Given the description of an element on the screen output the (x, y) to click on. 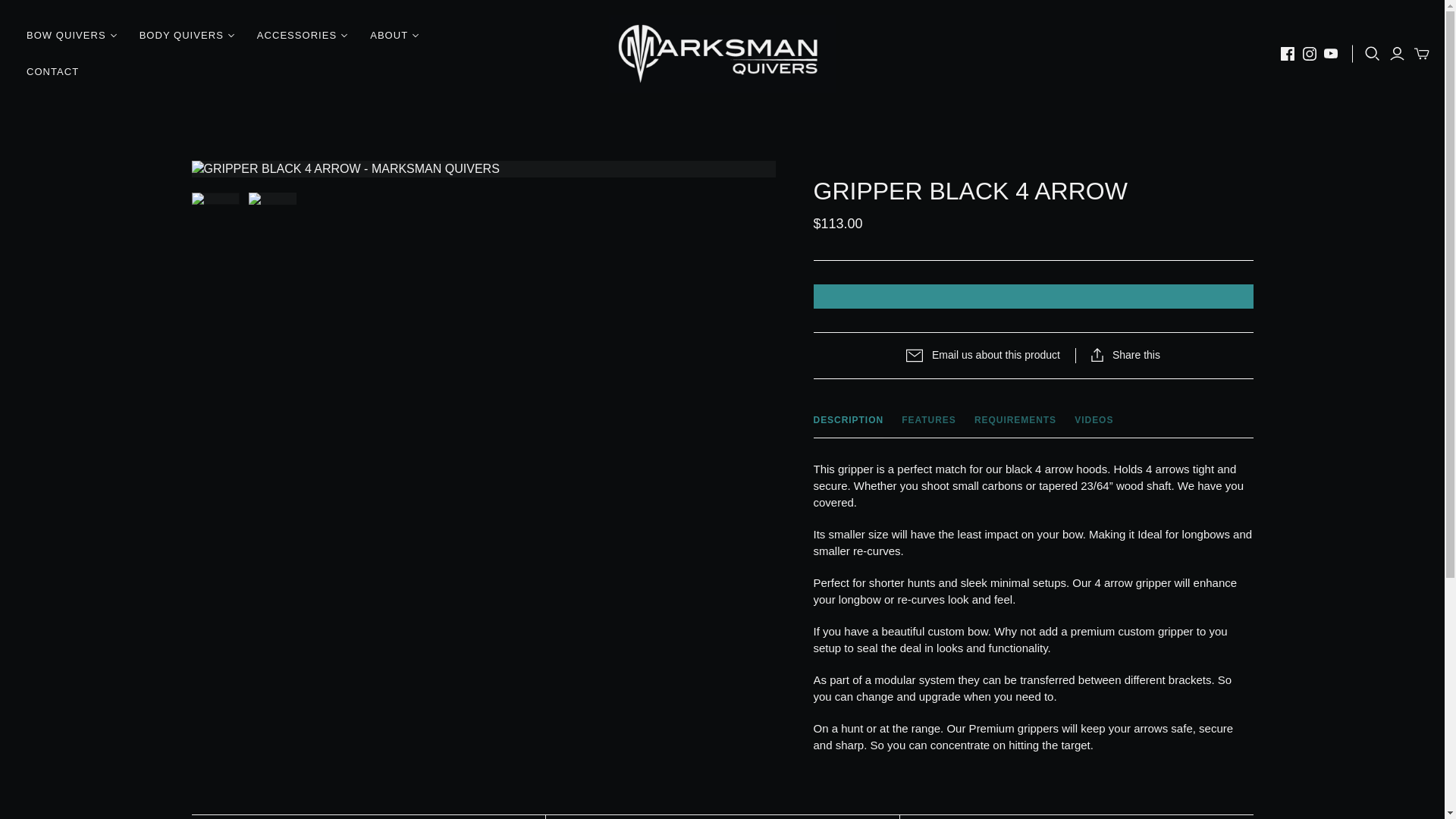
ABOUT (393, 35)
BODY QUIVERS (187, 35)
CONTACT (52, 72)
BOW QUIVERS (71, 35)
ACCESSORIES (302, 35)
